Given the description of an element on the screen output the (x, y) to click on. 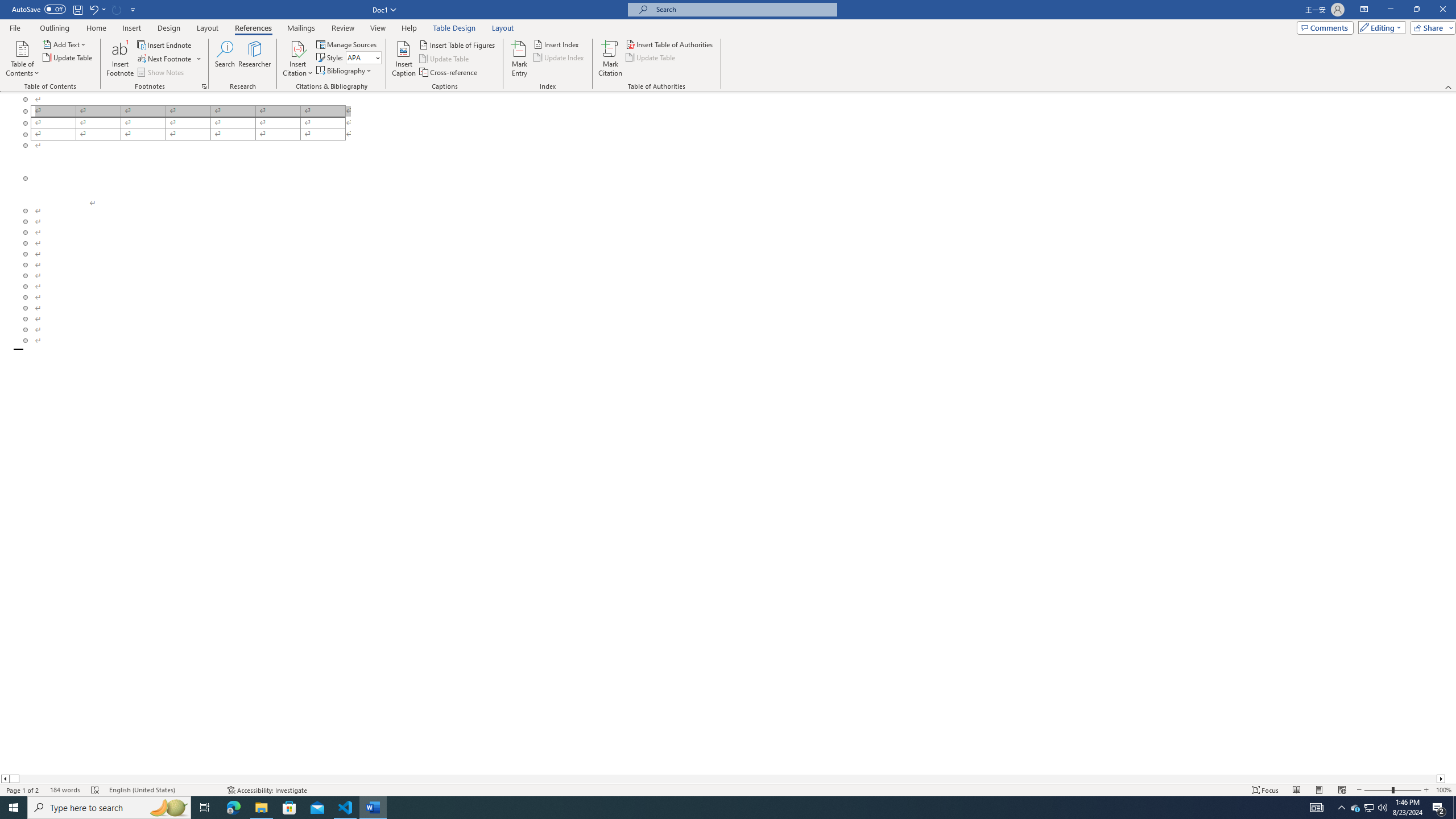
Show Notes (161, 72)
Update Table (651, 56)
Footnote and Endnote Dialog... (203, 85)
Insert Endnote (165, 44)
Bibliography (344, 69)
